Given the description of an element on the screen output the (x, y) to click on. 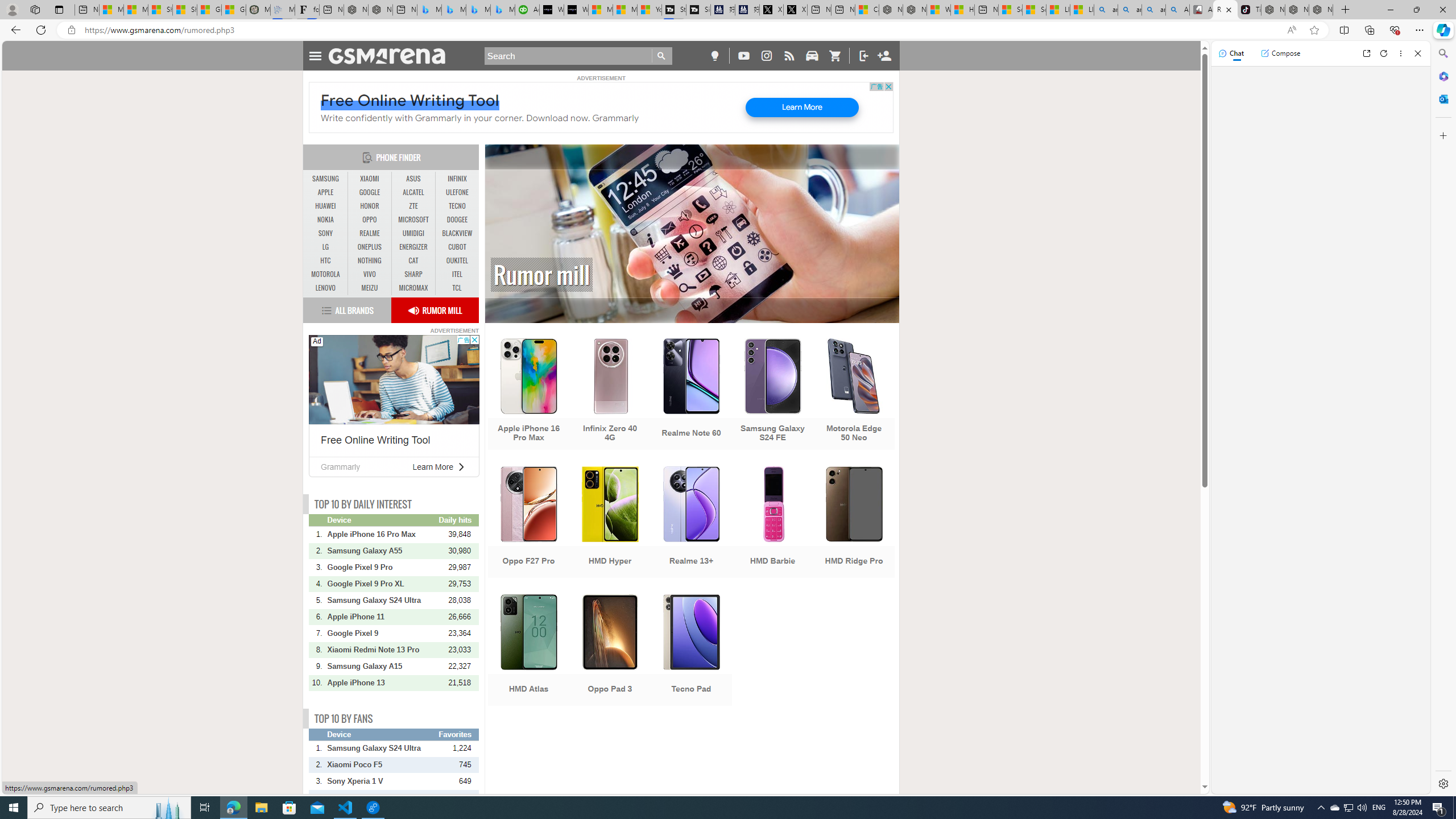
Oppo F27 Pro (528, 523)
Realme 13+ (691, 523)
Google Pixel 9 Pro (381, 566)
VIVO (369, 273)
REALME (369, 233)
HONOR (369, 206)
Realme Note 60 (691, 395)
Tecno Pad (691, 651)
OPPO (369, 219)
ZTE (413, 206)
Gilma and Hector both pose tropical trouble for Hawaii (233, 9)
Toggle Navigation (314, 53)
